Given the description of an element on the screen output the (x, y) to click on. 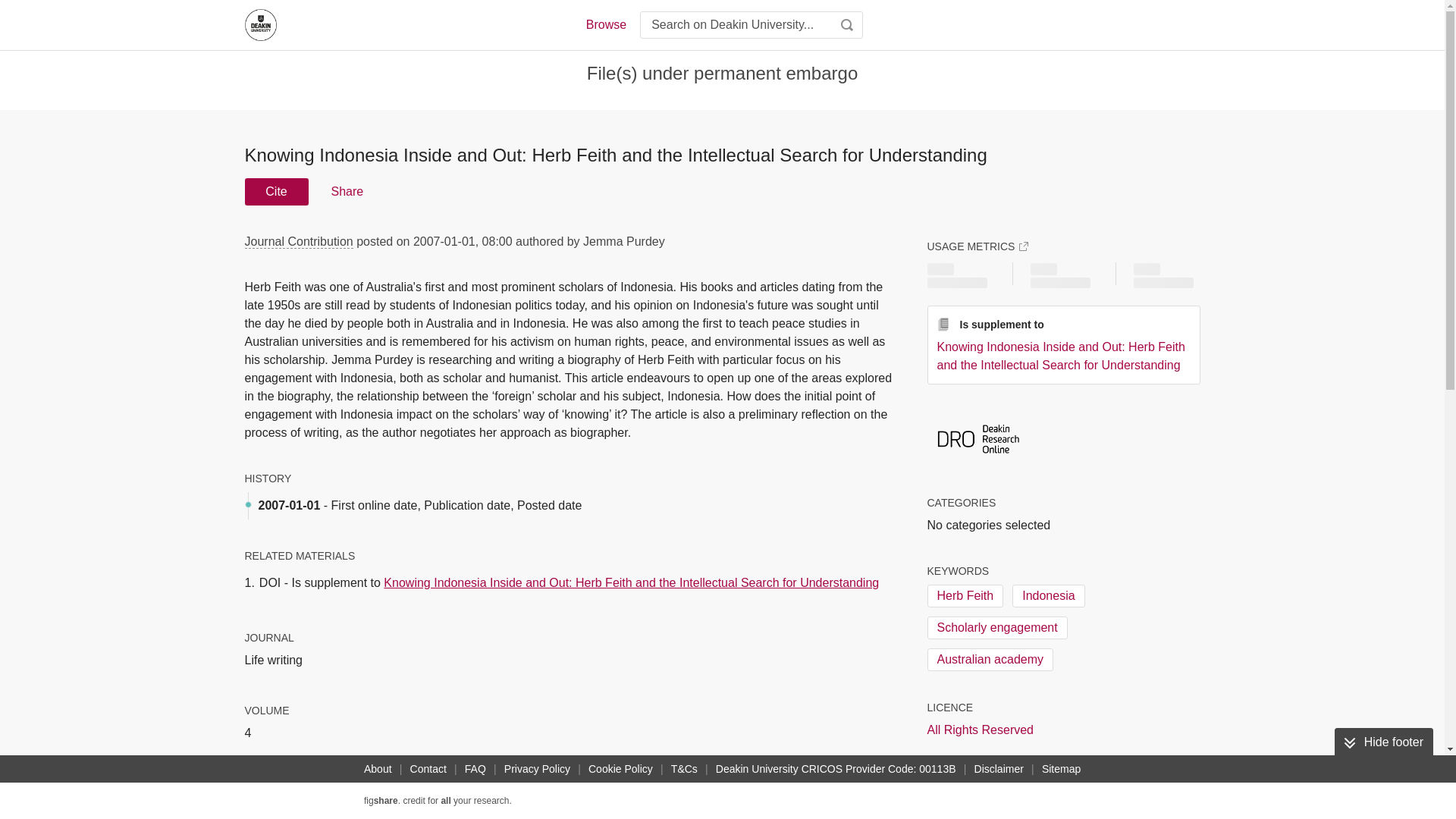
Cite (275, 191)
Browse (605, 24)
Share (346, 191)
USAGE METRICS (976, 246)
Herb Feith (964, 595)
Sitemap (1060, 769)
Contact (428, 769)
Scholarly engagement (996, 627)
FAQ (475, 769)
Hide footer (1383, 742)
Cookie Policy (620, 769)
About (377, 769)
Select an option (979, 802)
Privacy Policy (537, 769)
